Given the description of an element on the screen output the (x, y) to click on. 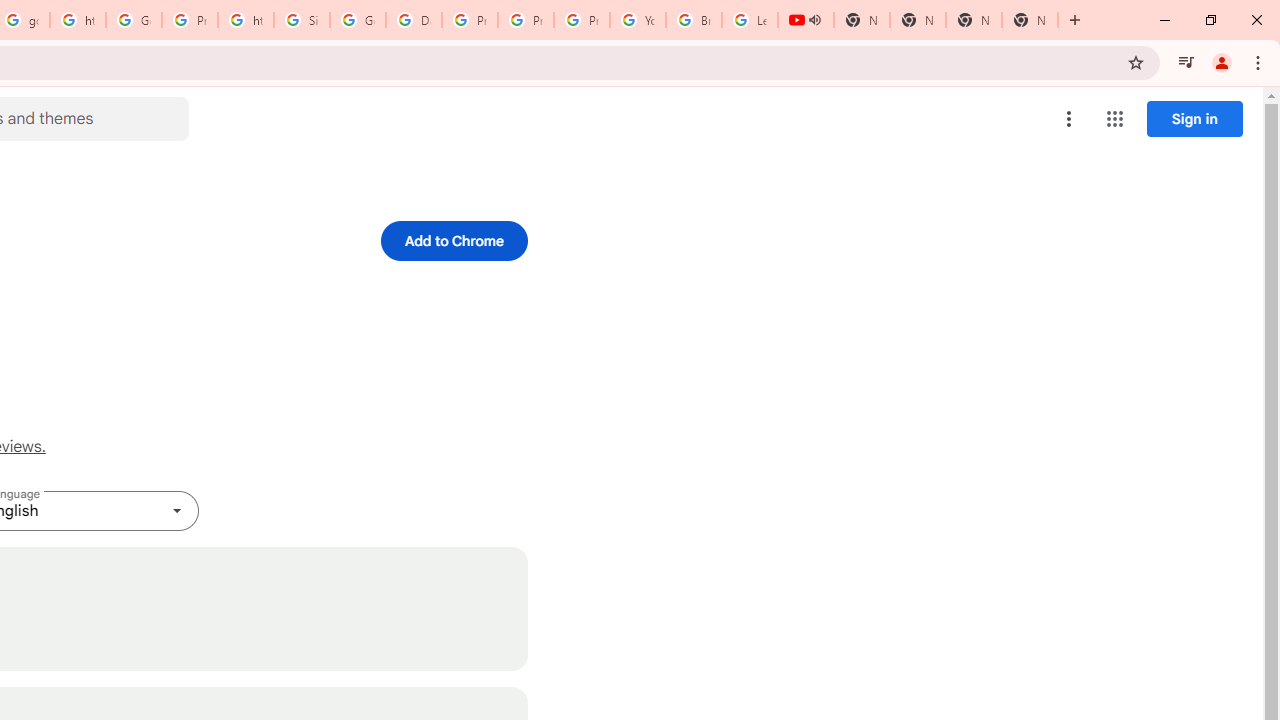
YouTube (637, 20)
https://scholar.google.com/ (245, 20)
More options menu (1069, 118)
https://scholar.google.com/ (77, 20)
